Given the description of an element on the screen output the (x, y) to click on. 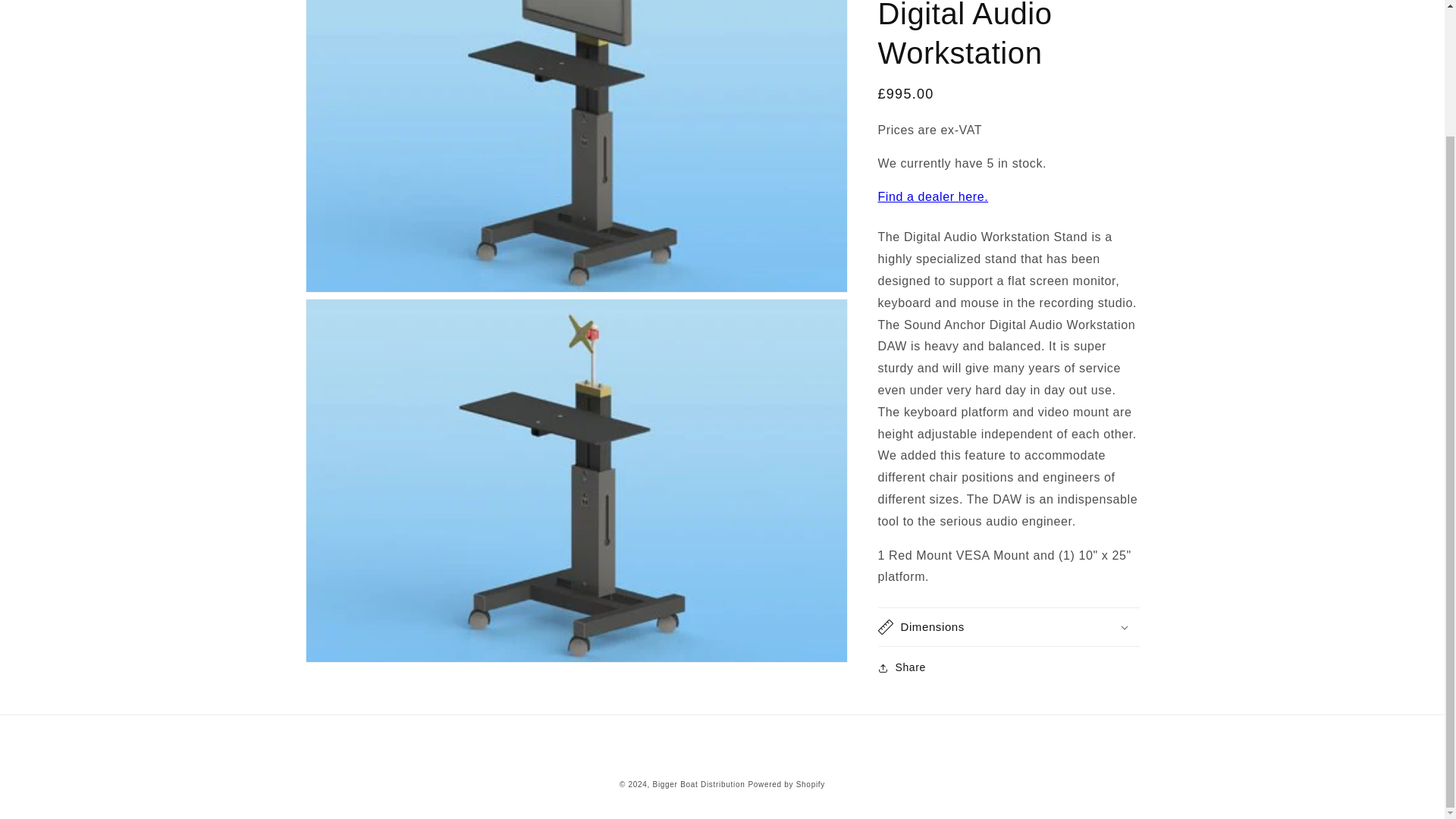
Bigger Boat Distribution (698, 784)
Find a dealer here. (932, 162)
Powered by Shopify (786, 784)
